Given the description of an element on the screen output the (x, y) to click on. 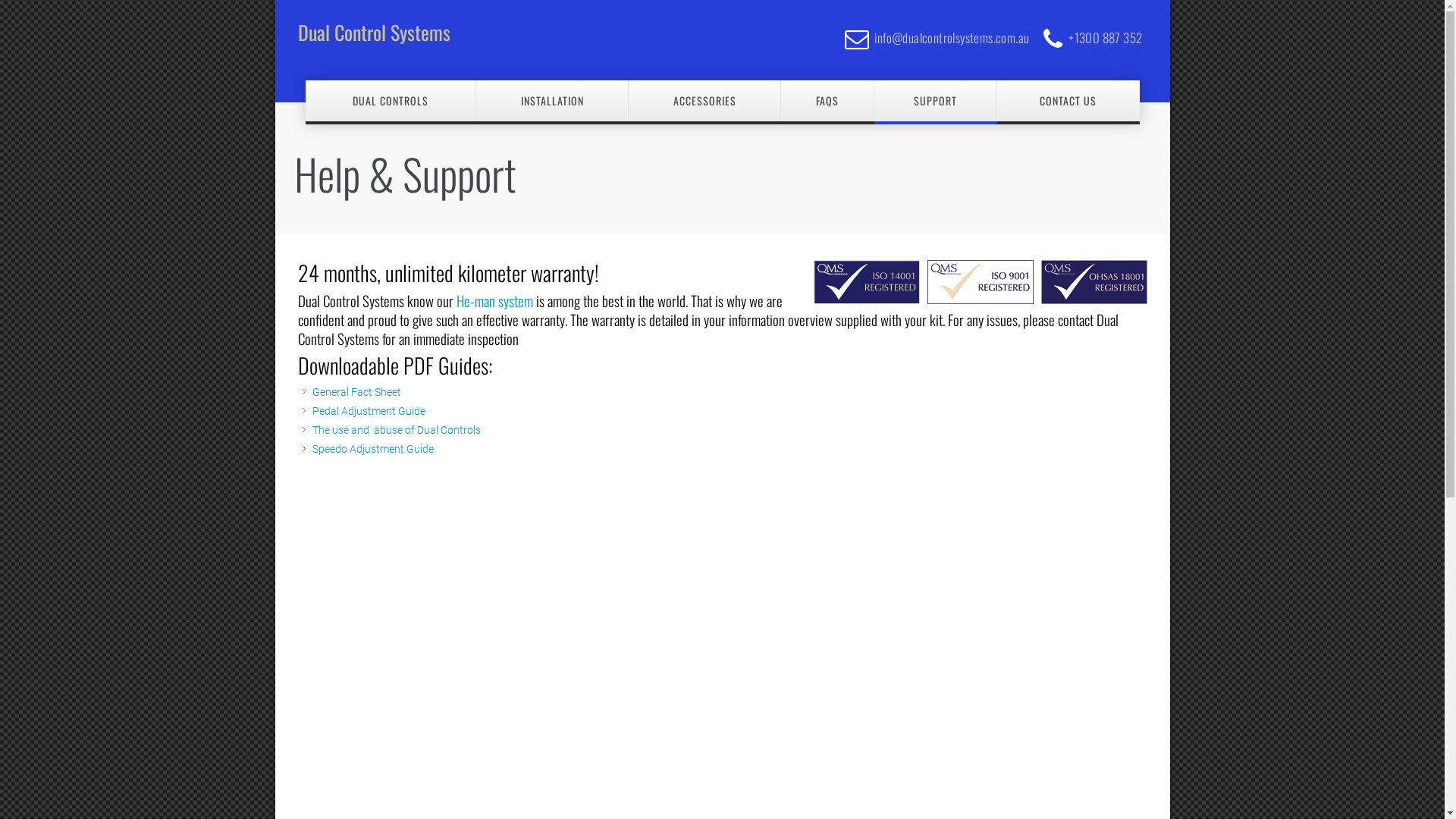
INSTALLATION Element type: text (552, 100)
ACCESSORIES Element type: text (704, 100)
FAQS Element type: text (827, 100)
SUPPORT Element type: text (935, 100)
DUAL CONTROLS Element type: text (390, 100)
Dual Control Systems Element type: text (429, 33)
CONTACT US Element type: text (1068, 100)
Learner Vehicle Dual Controls Gold Coast Element type: hover (1093, 282)
Speedo Adjustment Guide Element type: text (372, 448)
He-man system Element type: text (494, 299)
The use and  abuse of Dual Controls Element type: text (396, 429)
Pedal Adjustment Guide Element type: text (368, 410)
Learner Vehicle Dual Controls Gold Coast Element type: hover (979, 282)
General Fact Sheet Element type: text (356, 391)
